Given the description of an element on the screen output the (x, y) to click on. 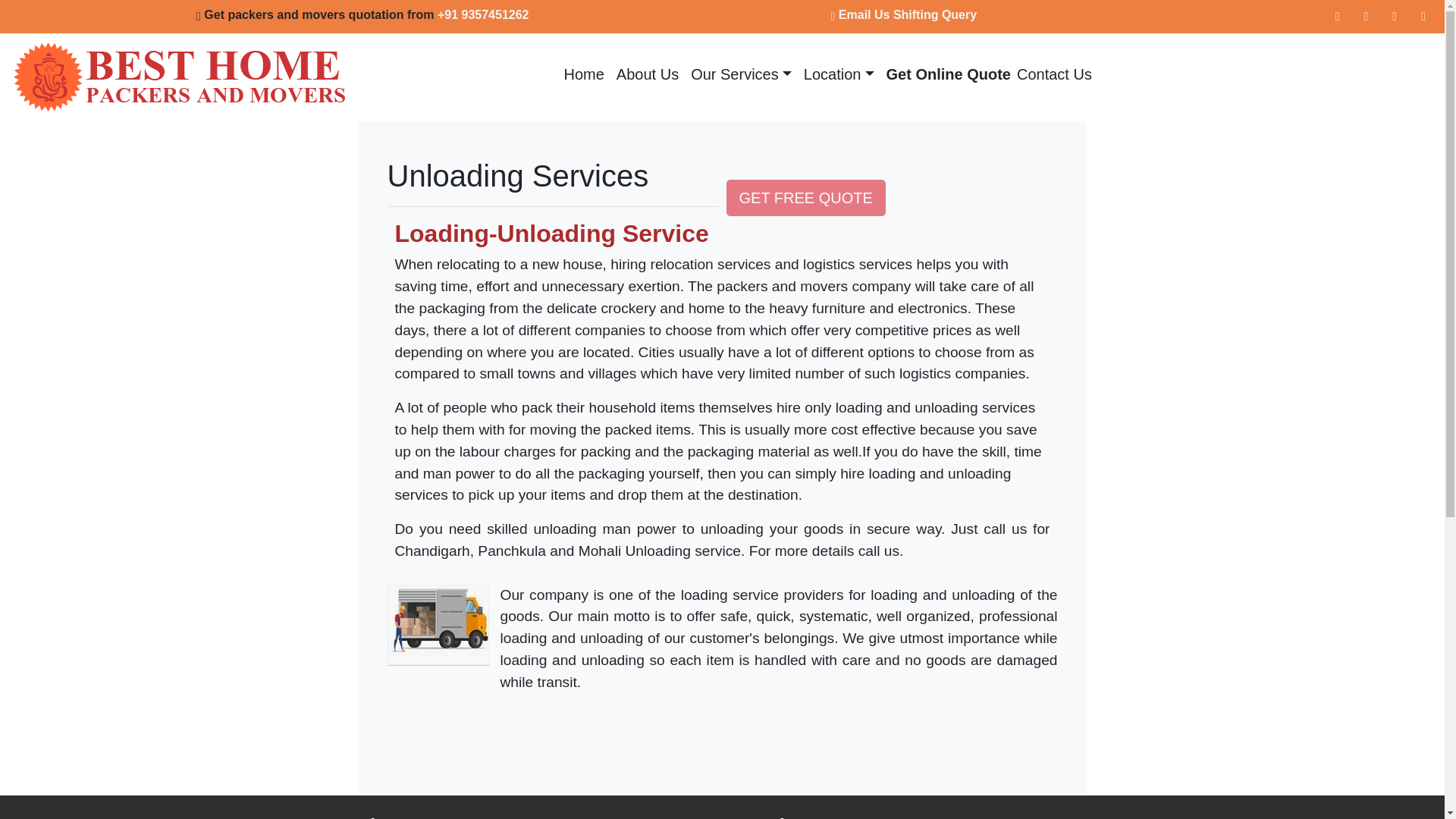
Home (583, 73)
Get Online Quote (945, 73)
like and follow our instagram page (1394, 17)
About Us (647, 73)
Email Us Shifting Query (903, 14)
GET FREE QUOTE (805, 197)
About Us (647, 73)
Our Services (740, 73)
Clients (838, 73)
Location (838, 73)
subscribe our youtube channel (1423, 17)
like and follow our facebook page (1337, 17)
home page (583, 73)
Contact Us (1051, 73)
like and follow our twitter page (1365, 17)
